Given the description of an element on the screen output the (x, y) to click on. 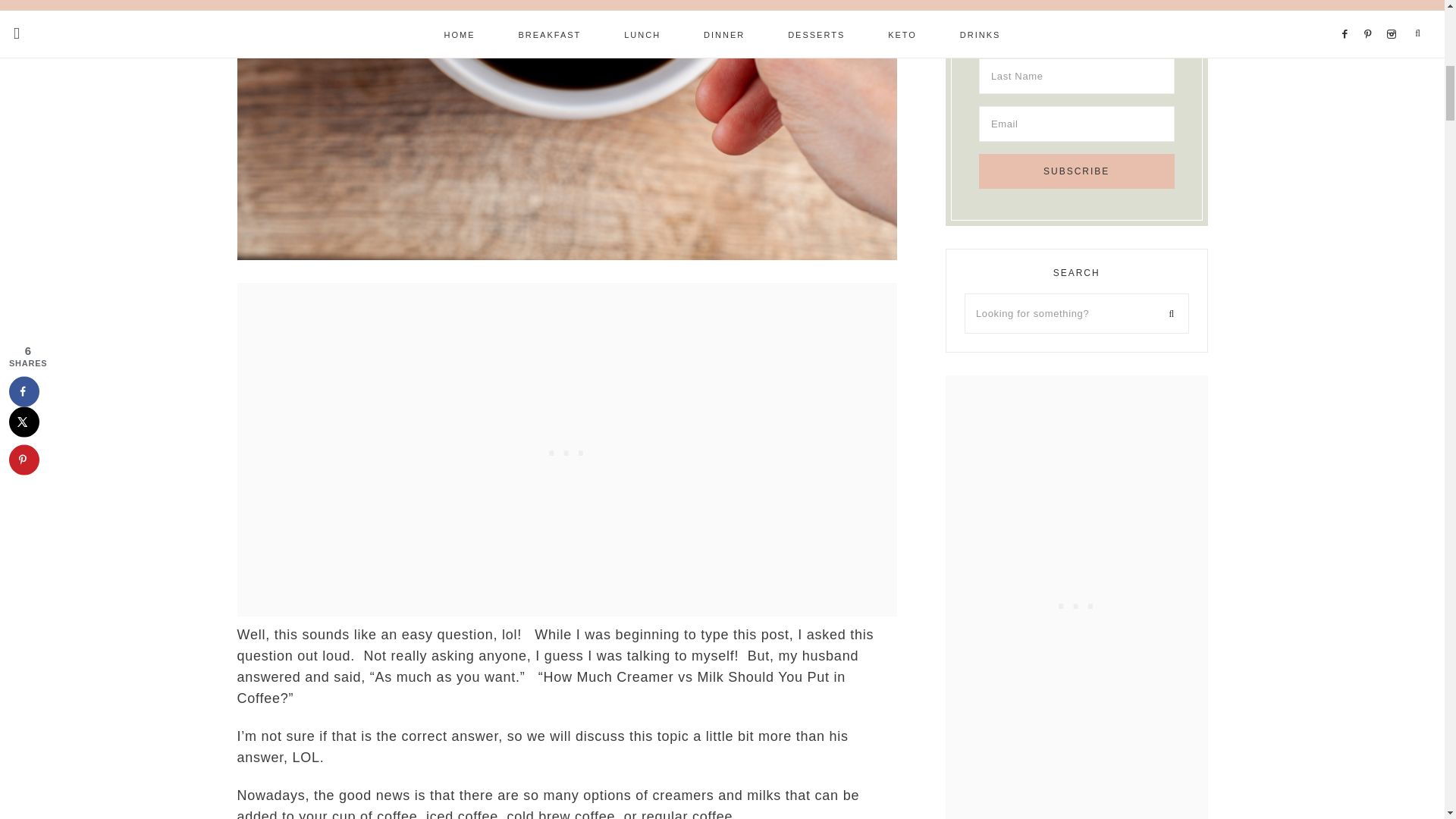
Subscribe (1076, 171)
